Given the description of an element on the screen output the (x, y) to click on. 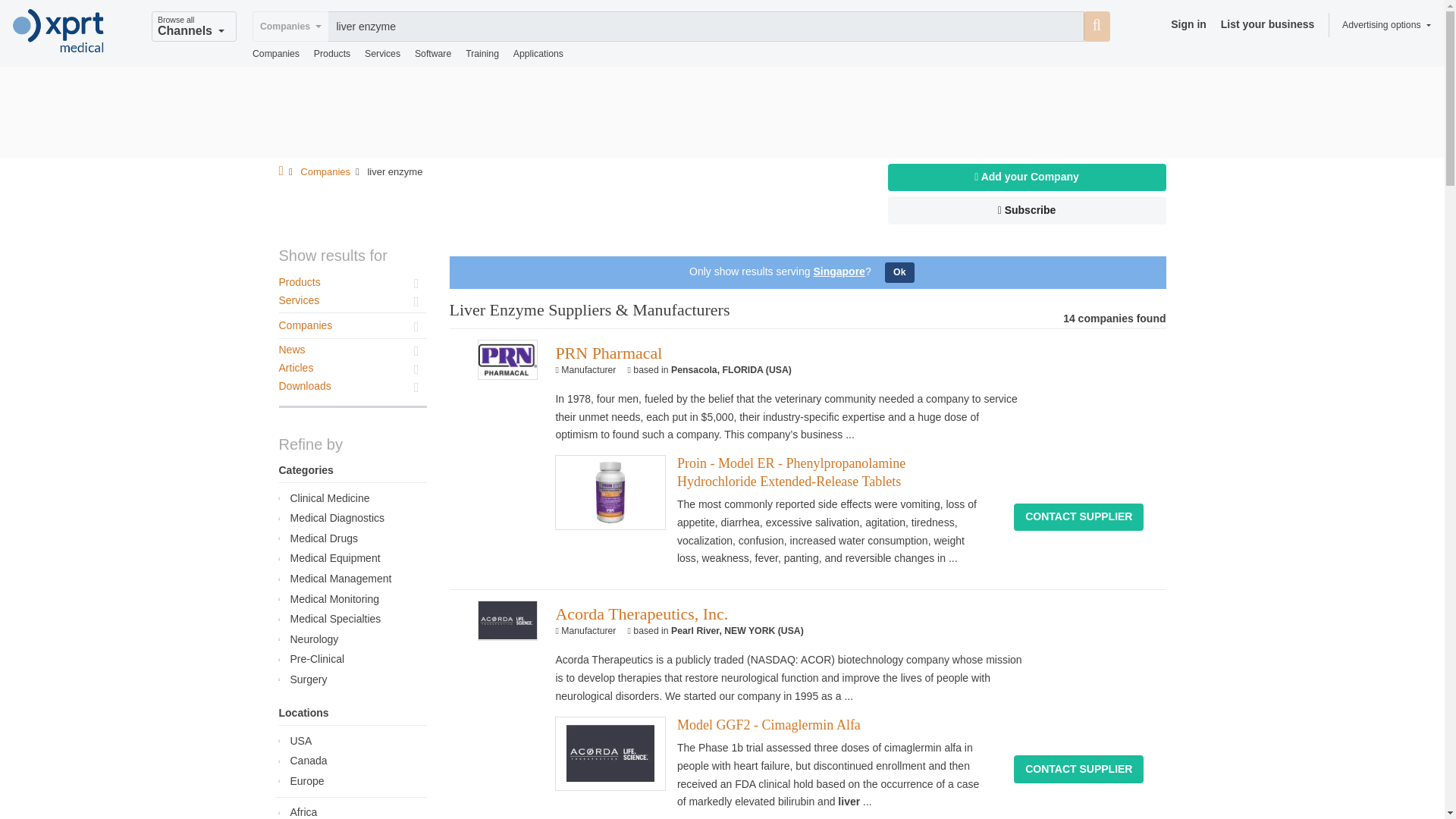
liver enzyme (706, 26)
3rd party ad content (721, 111)
Logo Medical XPRT (58, 31)
liver enzyme (706, 26)
